Given the description of an element on the screen output the (x, y) to click on. 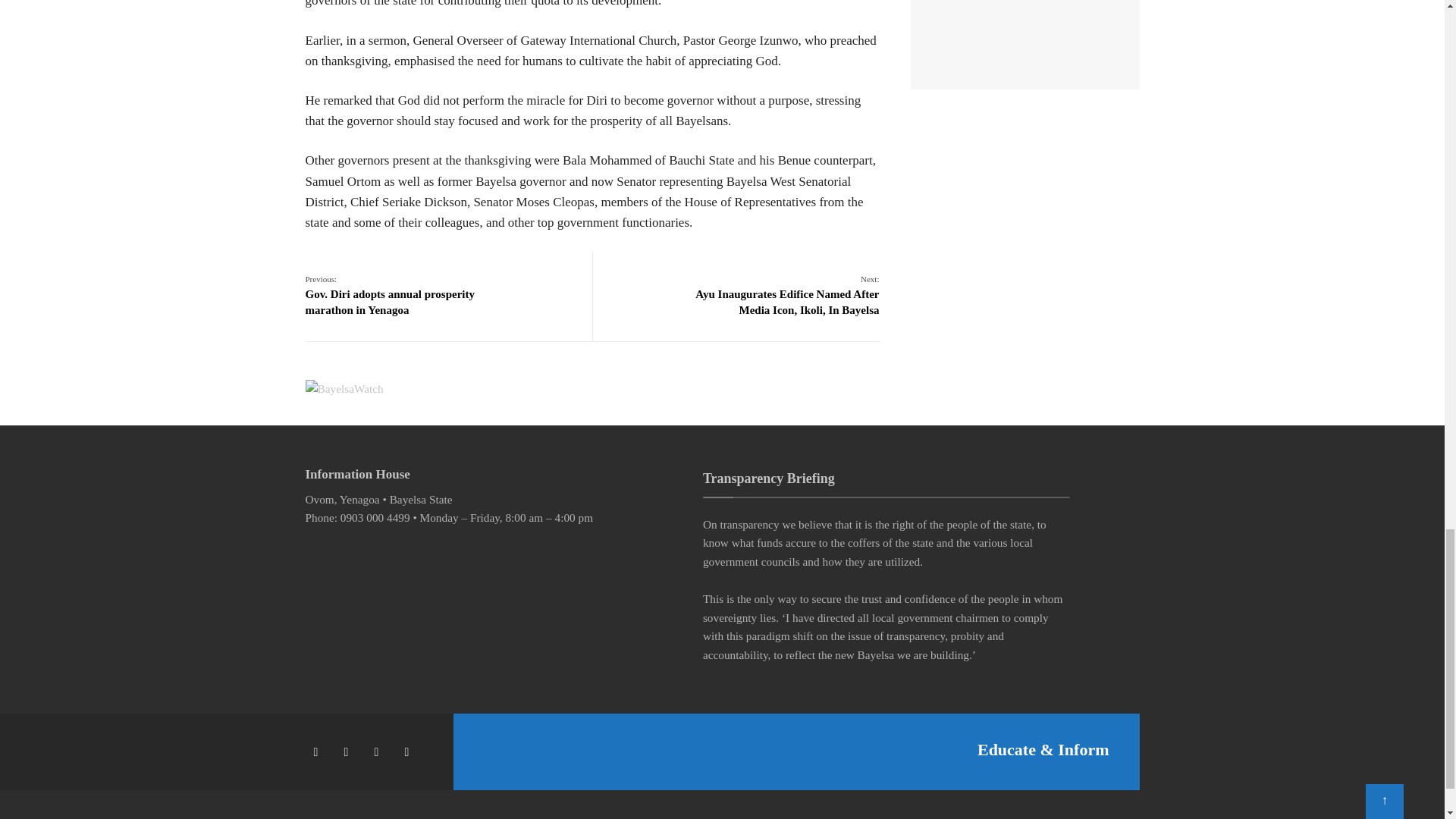
LinkedIn (409, 751)
